Given the description of an element on the screen output the (x, y) to click on. 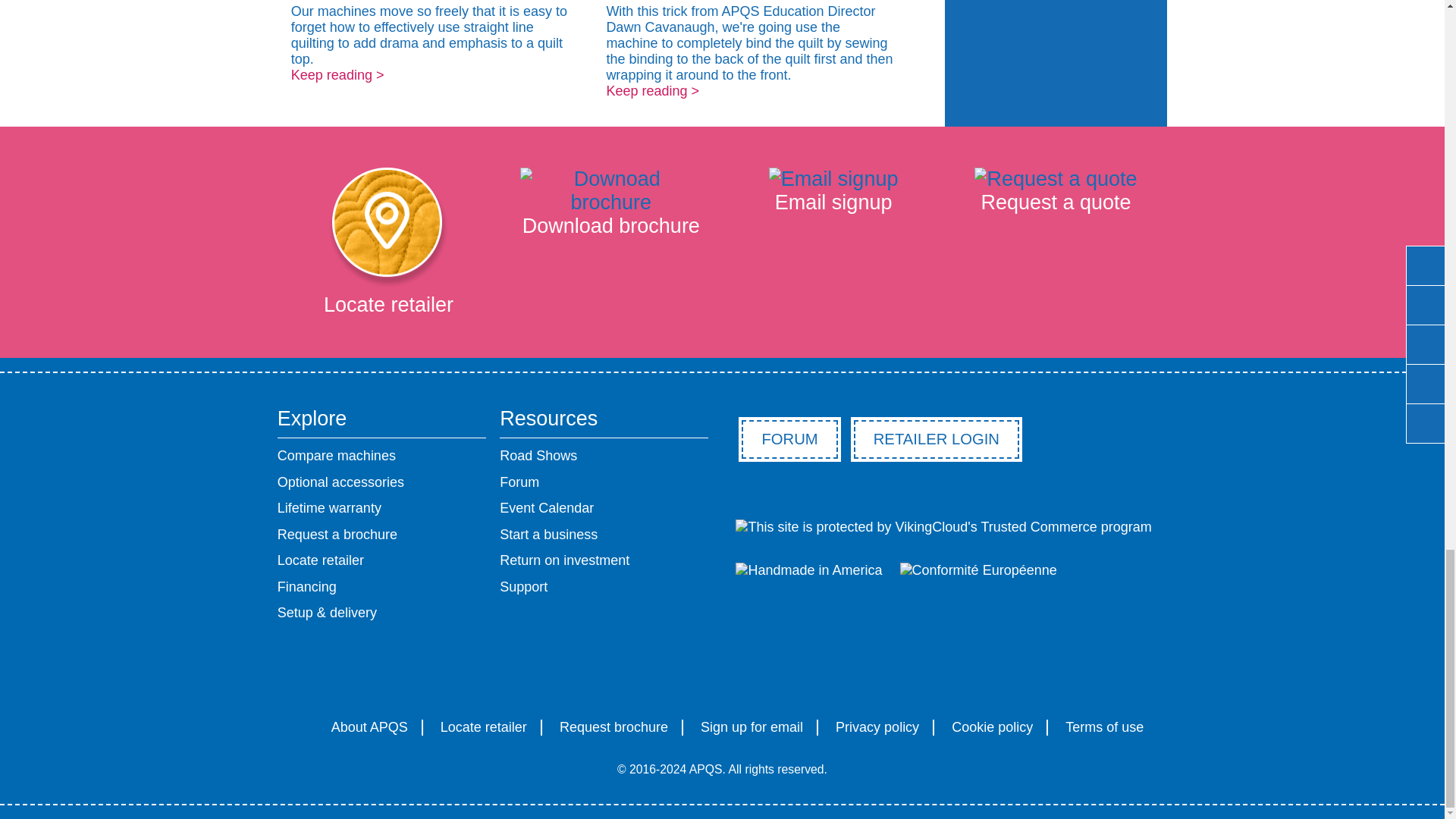
Instagram (721, 668)
YouTube (780, 668)
LinkedIn (839, 668)
Facebook (604, 668)
Pinterest (662, 668)
